Given the description of an element on the screen output the (x, y) to click on. 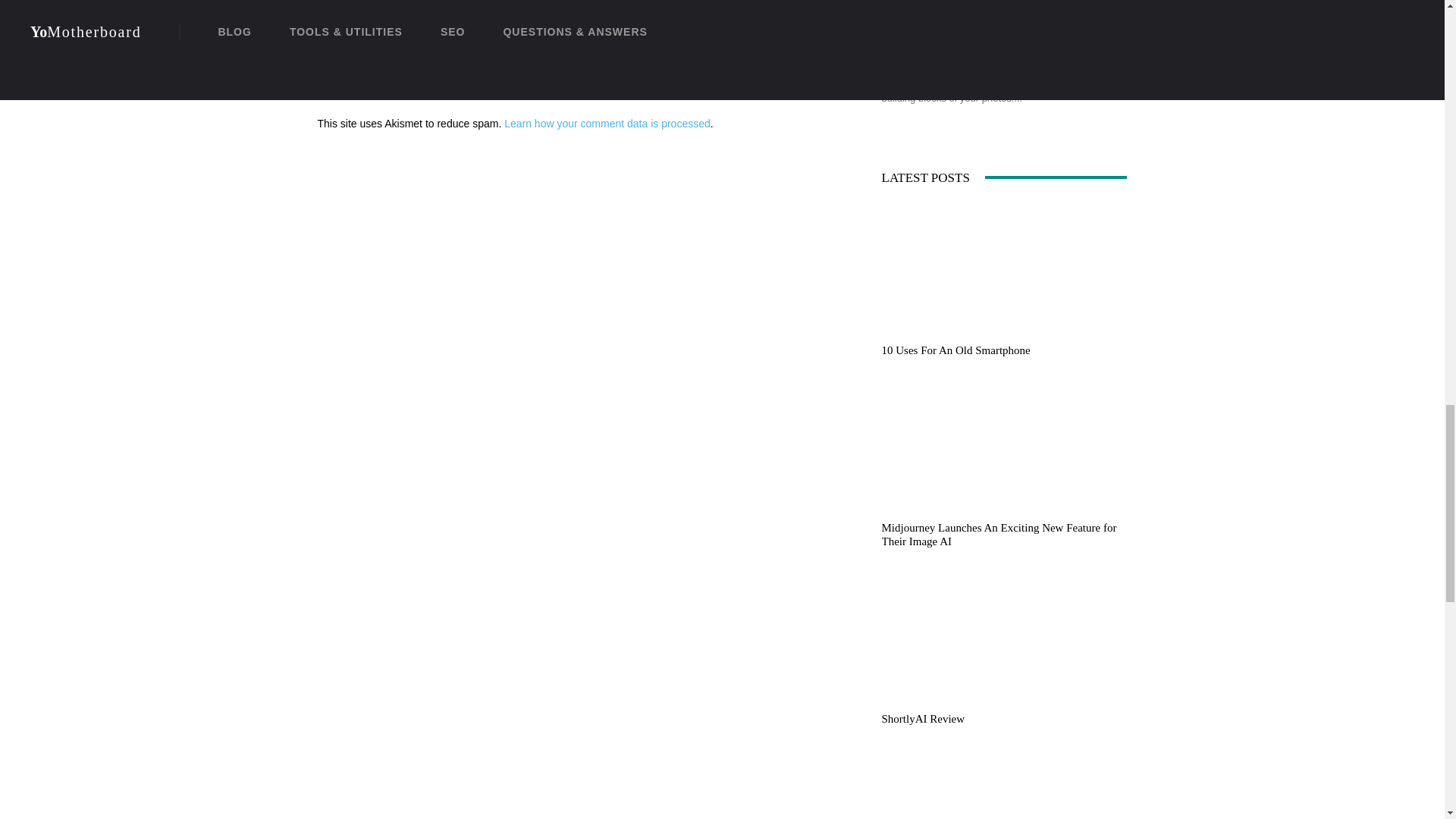
Post Comment (360, 87)
Post Comment (360, 87)
Learn how your comment data is processed (606, 123)
yes (321, 52)
